Given the description of an element on the screen output the (x, y) to click on. 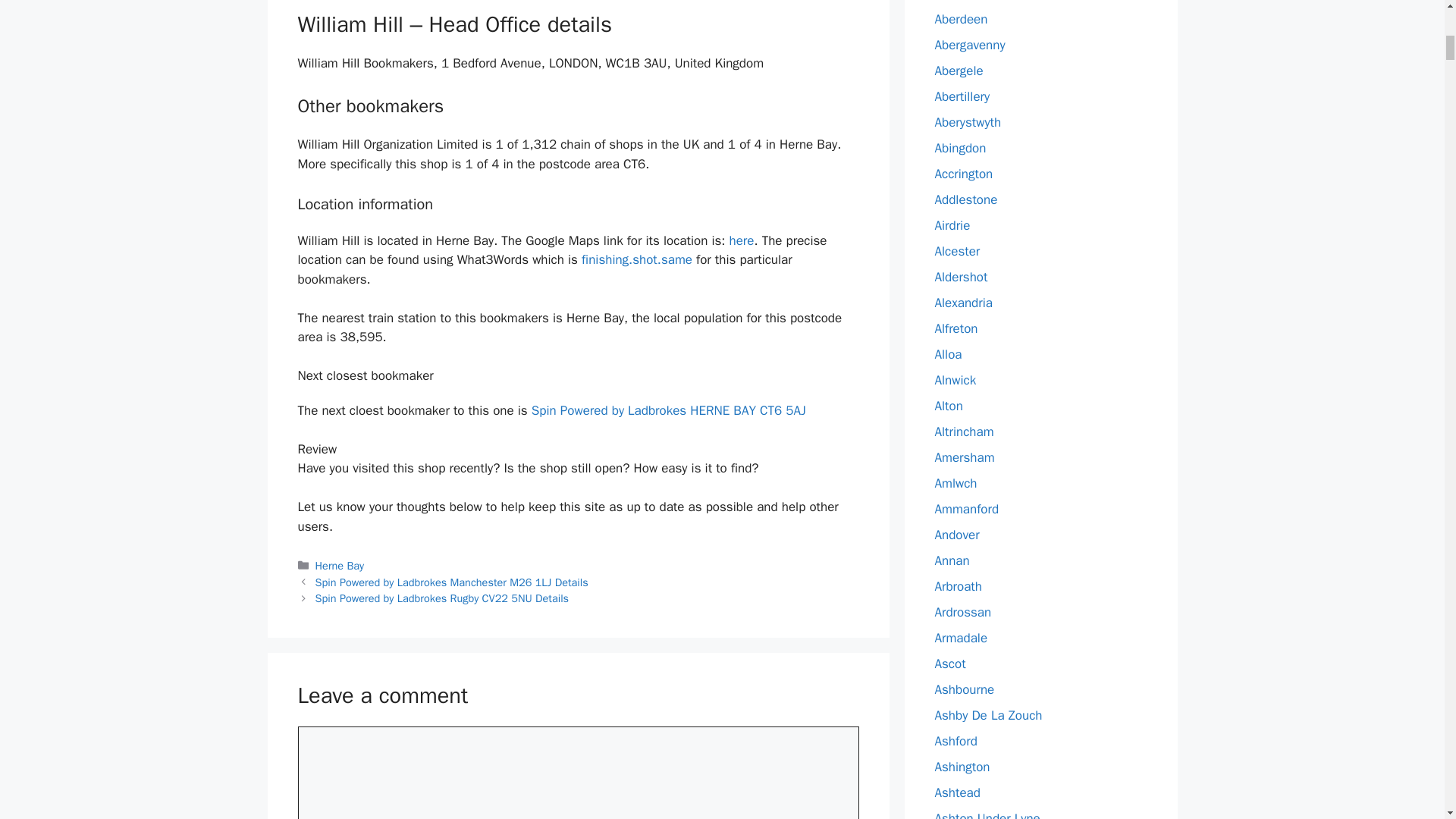
Alnwick (954, 380)
Abergavenny (969, 44)
Amersham (964, 457)
Addlestone (965, 199)
Alcester (956, 251)
here (741, 240)
Alexandria (962, 302)
Abingdon (959, 148)
Accrington (963, 173)
Airdrie (951, 225)
Alloa (947, 354)
Spin Powered by Ladbrokes Rugby CV22 5NU Details (442, 598)
finishing.shot.same (636, 259)
Herne Bay (340, 565)
Spin Powered by Ladbrokes HERNE BAY CT6 5AJ (668, 410)
